Given the description of an element on the screen output the (x, y) to click on. 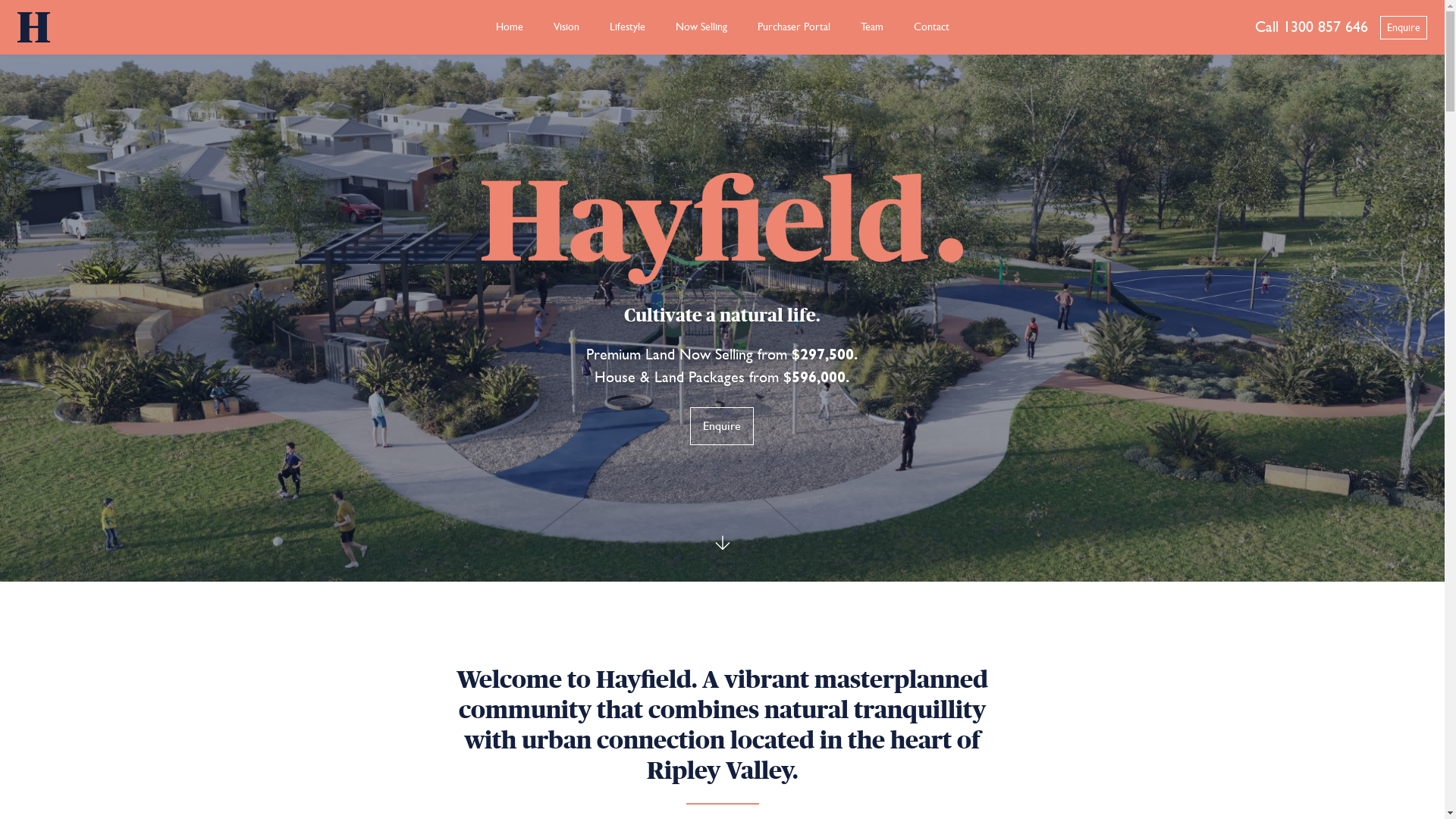
Enquire Element type: text (721, 426)
Now Selling Element type: text (700, 27)
Contact Element type: text (930, 27)
Lifestyle Element type: text (627, 27)
Purchaser Portal Element type: text (792, 27)
Team Element type: text (870, 27)
Home Element type: text (509, 27)
Call 1300 857 646 Element type: text (1311, 26)
Enquire Element type: text (1403, 26)
Vision Element type: text (566, 27)
